Given the description of an element on the screen output the (x, y) to click on. 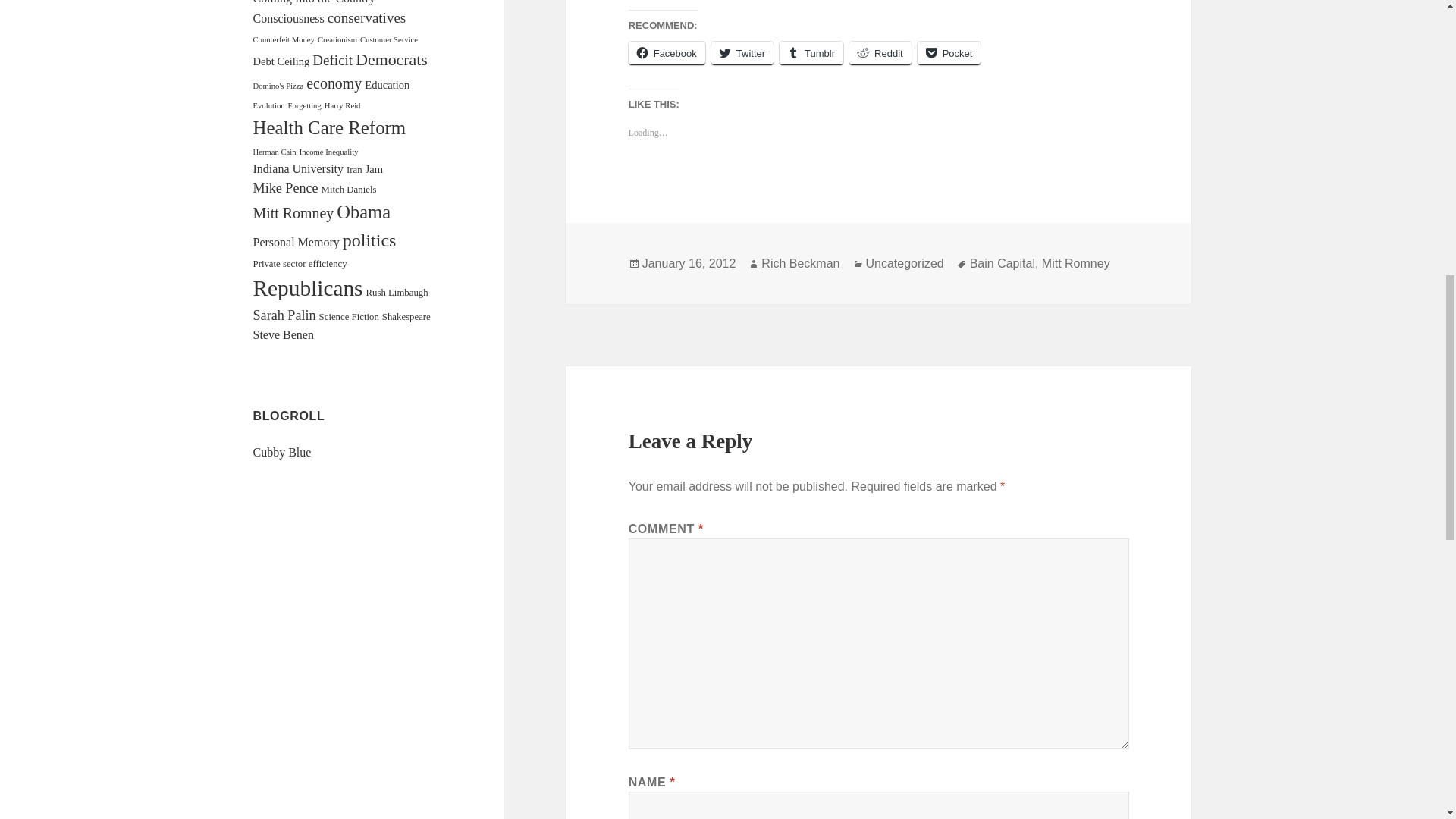
Click to share on Facebook (666, 53)
Jam (373, 168)
Forgetting (304, 105)
conservatives (366, 17)
Click to share on Twitter (742, 53)
Consciousness (288, 18)
Creationism (336, 40)
Click to share on Pocket (949, 53)
Harry Reid (342, 105)
Indiana University (298, 168)
